Given the description of an element on the screen output the (x, y) to click on. 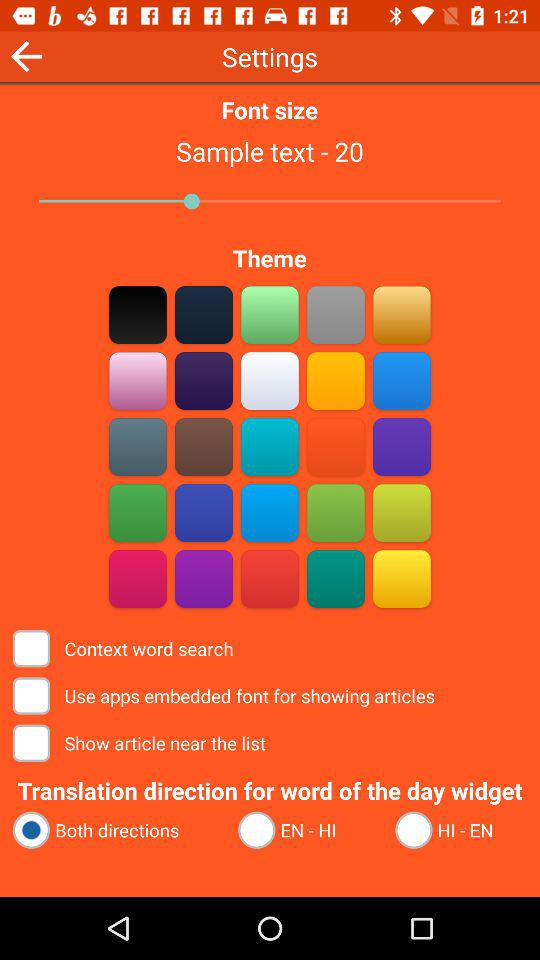
royal blue (203, 512)
